Given the description of an element on the screen output the (x, y) to click on. 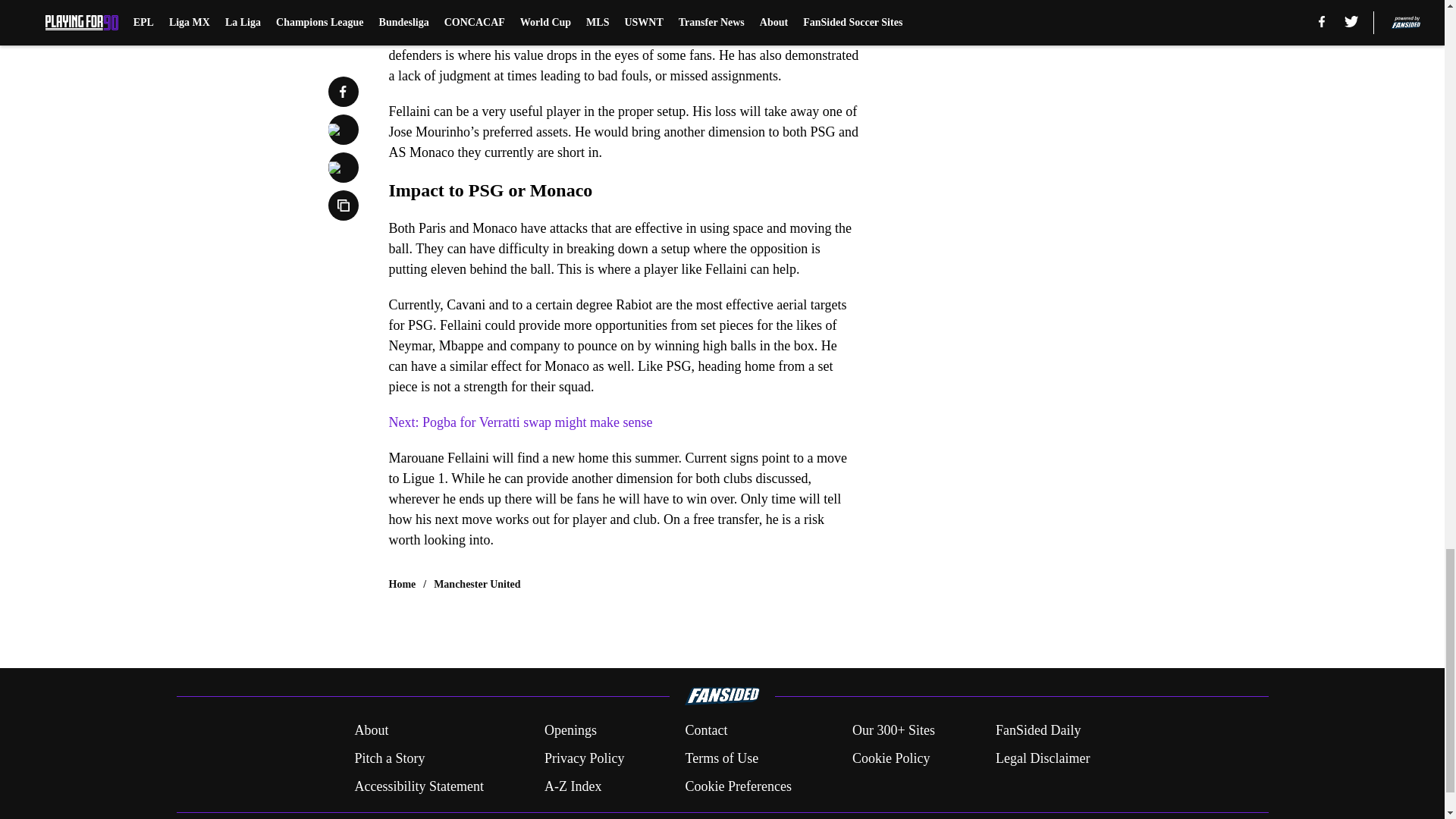
Contact (705, 730)
Openings (570, 730)
Privacy Policy (584, 758)
FanSided Daily (1038, 730)
Pitch a Story (389, 758)
Next: Pogba for Verratti swap might make sense (520, 421)
Manchester United (476, 584)
Home (401, 584)
About (370, 730)
